Given the description of an element on the screen output the (x, y) to click on. 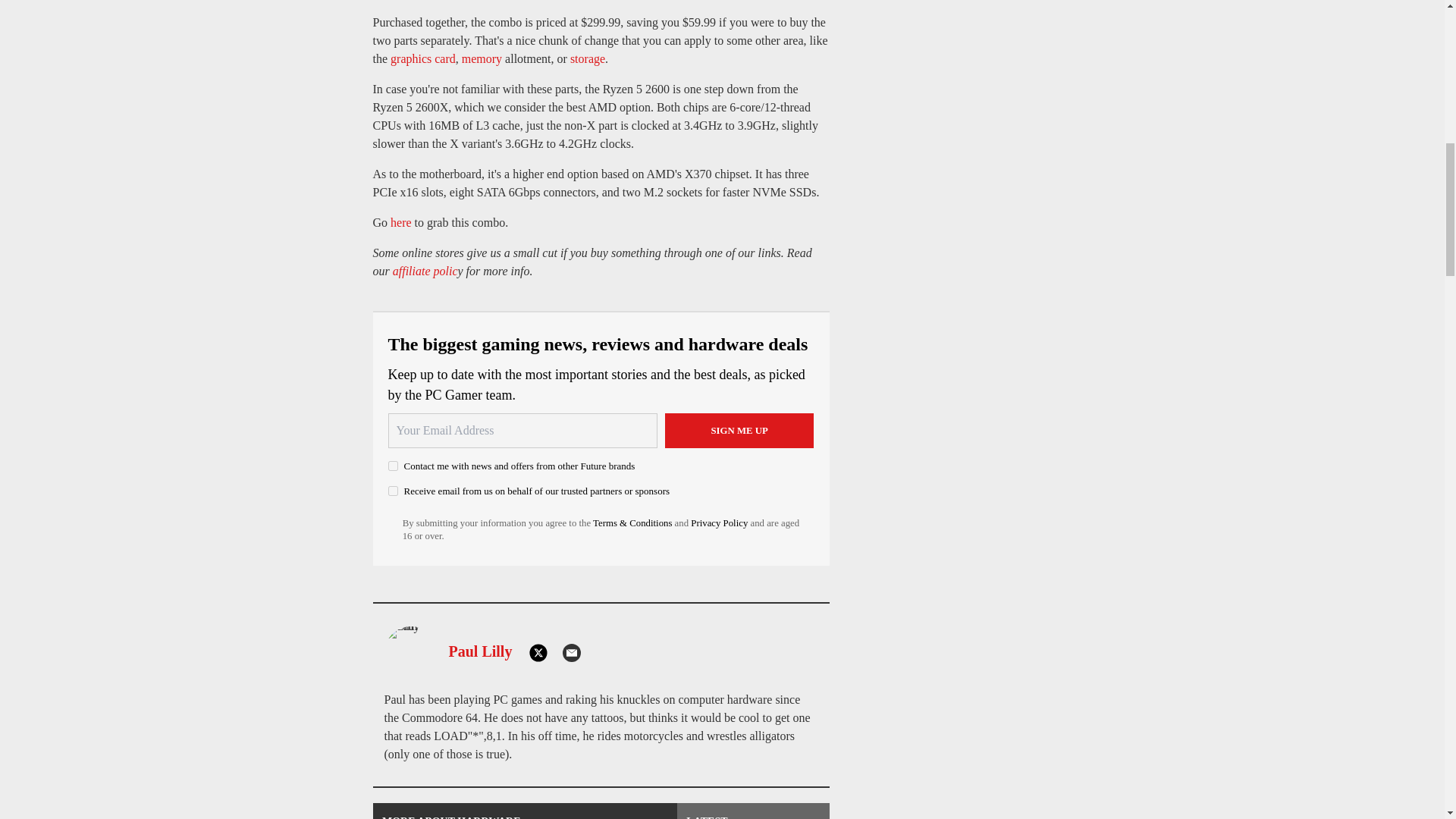
Sign me up (739, 430)
on (392, 491)
on (392, 465)
